Given the description of an element on the screen output the (x, y) to click on. 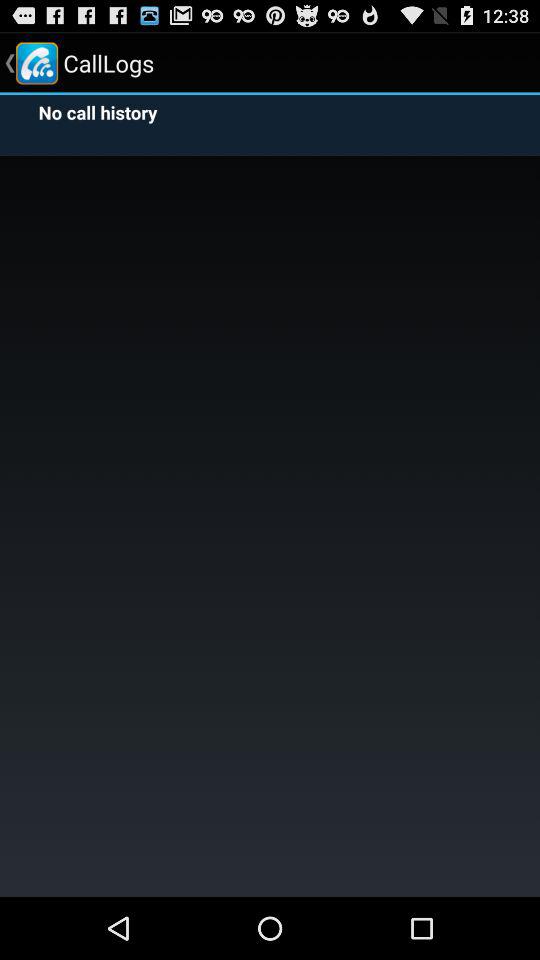
jump to no call history item (93, 111)
